Given the description of an element on the screen output the (x, y) to click on. 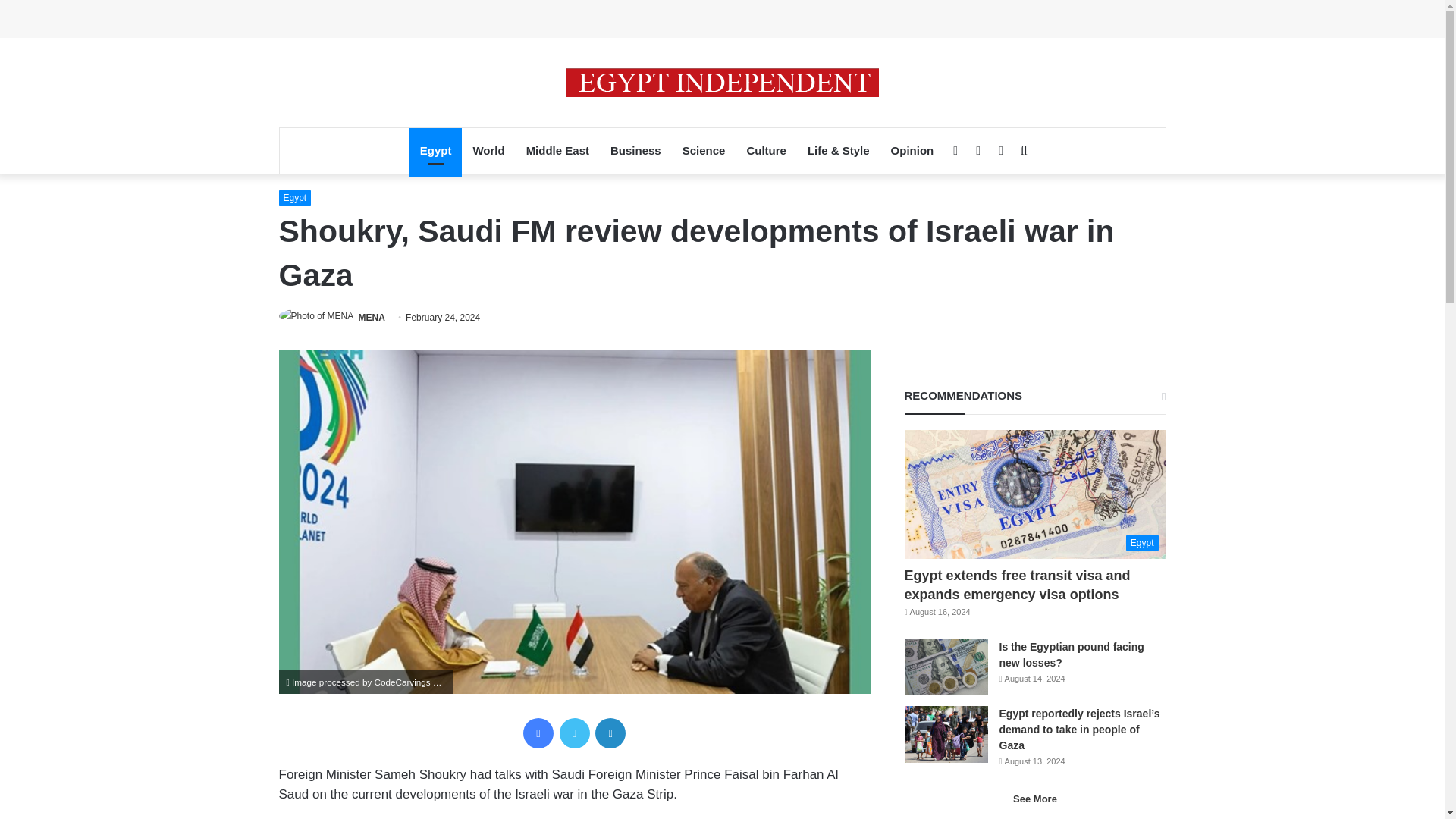
Facebook (537, 733)
Culture (765, 150)
Middle East (557, 150)
MENA (371, 317)
World (488, 150)
LinkedIn (610, 733)
Science (703, 150)
MENA (371, 317)
Egypt (295, 197)
Egypt Independent (722, 82)
